Given the description of an element on the screen output the (x, y) to click on. 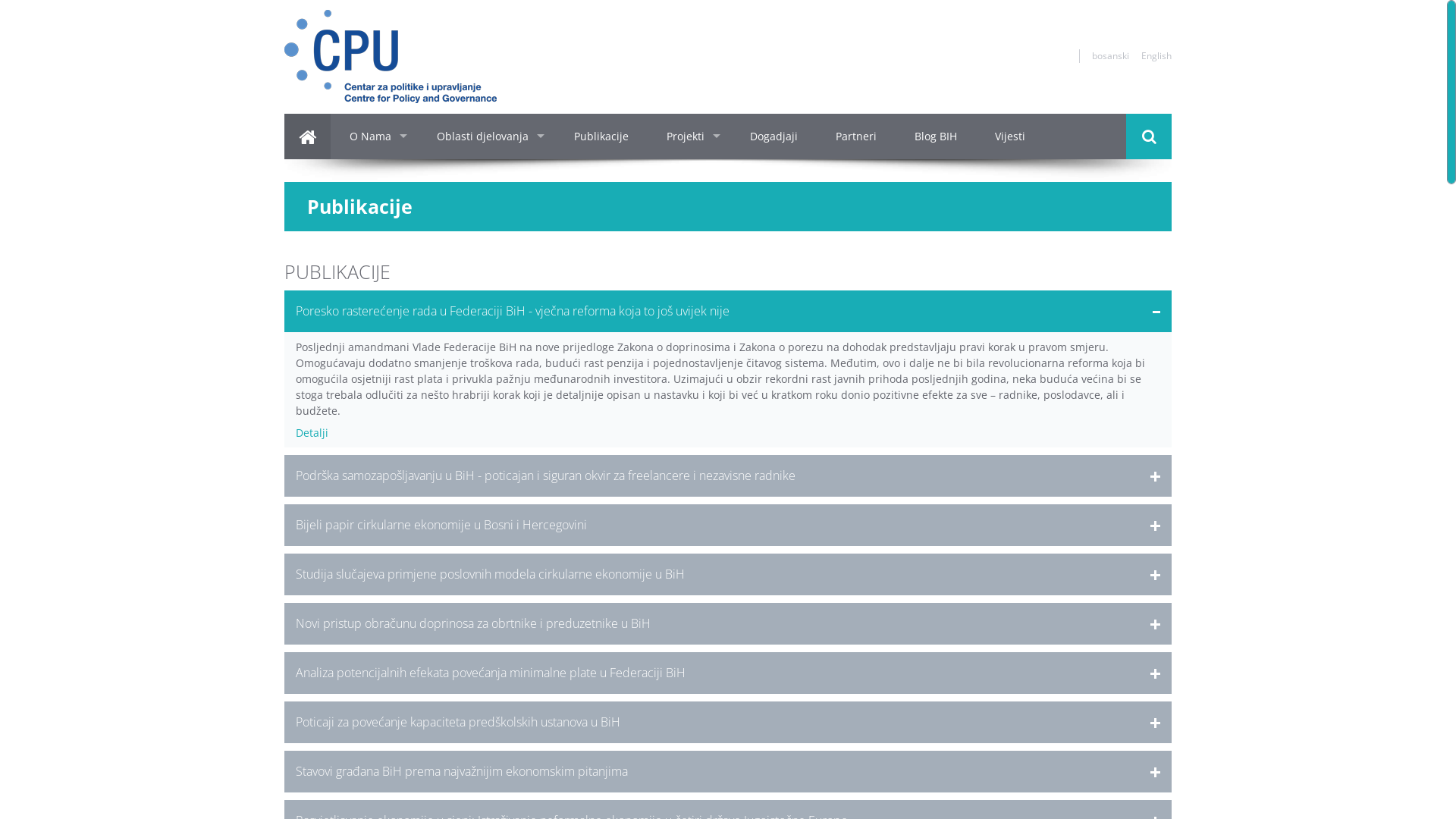
Partneri Element type: text (855, 136)
O Nama Element type: text (373, 136)
Detalji Element type: text (311, 432)
English Element type: text (1156, 54)
Publikacije Element type: text (601, 136)
Vijesti Element type: text (1009, 136)
bosanski Element type: text (1110, 54)
Blog BIH Element type: text (935, 136)
Oblasti djelovanja Element type: text (486, 136)
Bijeli papir cirkularne ekonomije u Bosni i Hercegovini Element type: text (727, 525)
Projekti Element type: text (689, 136)
Dogadjaji Element type: text (773, 136)
